Given the description of an element on the screen output the (x, y) to click on. 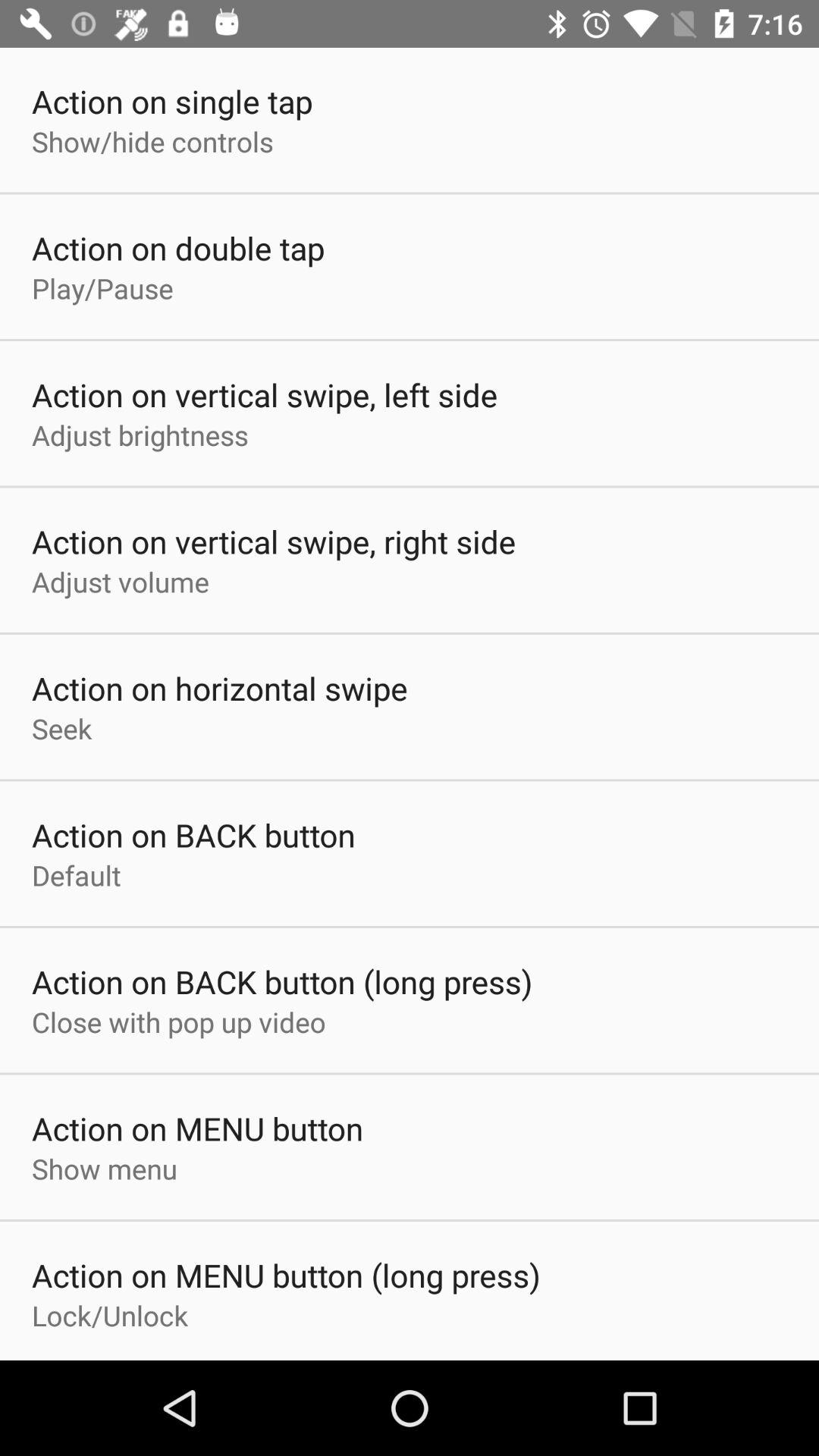
press the icon above the action on menu (178, 1021)
